Given the description of an element on the screen output the (x, y) to click on. 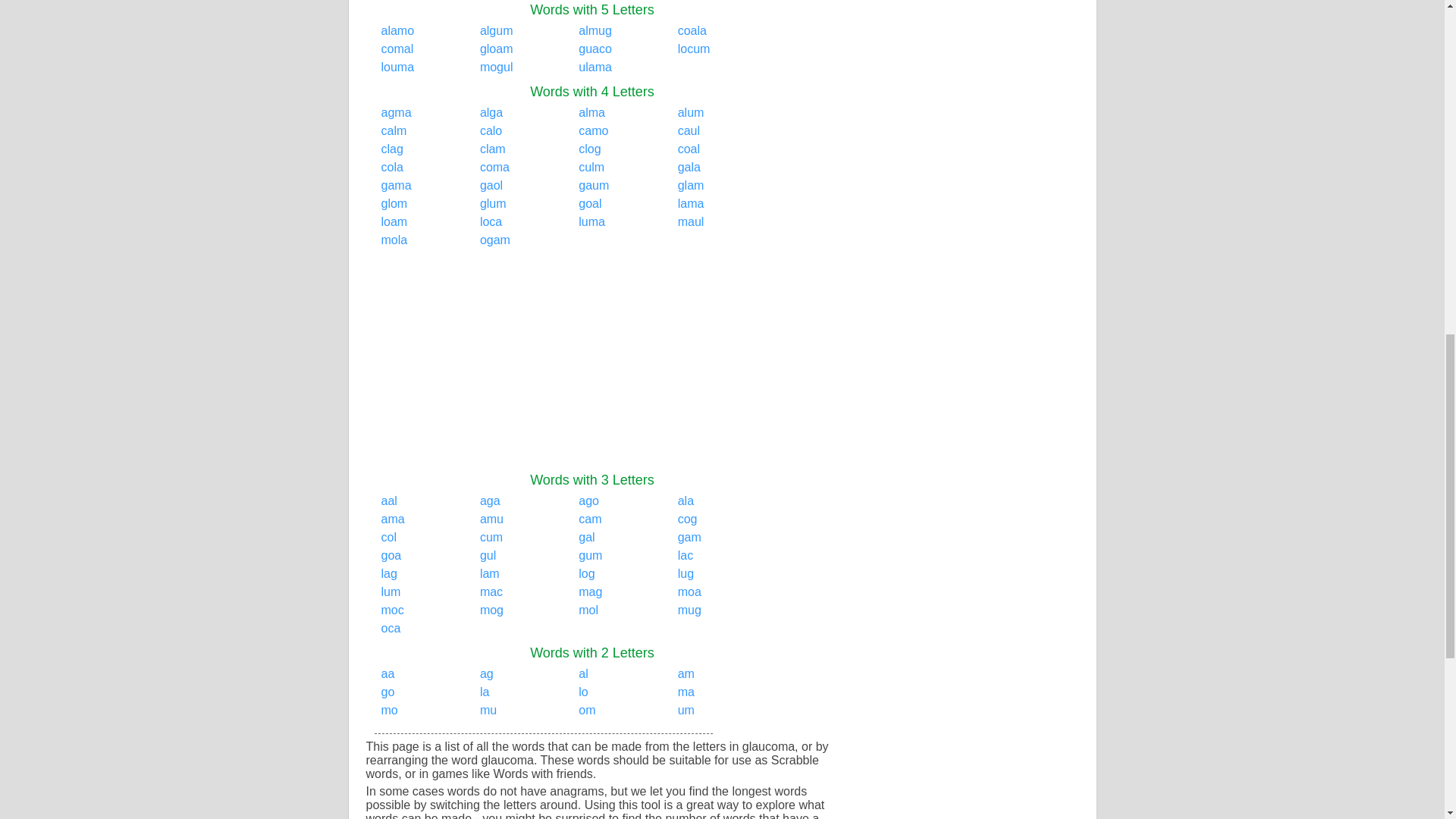
The words 'gloam' (496, 48)
alum (691, 112)
The words 'louma' (396, 66)
culm (591, 166)
comal (396, 48)
The words 'alamo' (396, 30)
ulama (594, 66)
The words 'comal' (396, 48)
gloam (496, 48)
gama (395, 185)
almug (594, 30)
louma (396, 66)
gaol (491, 185)
clog (588, 148)
The words 'guaco' (594, 48)
